Given the description of an element on the screen output the (x, y) to click on. 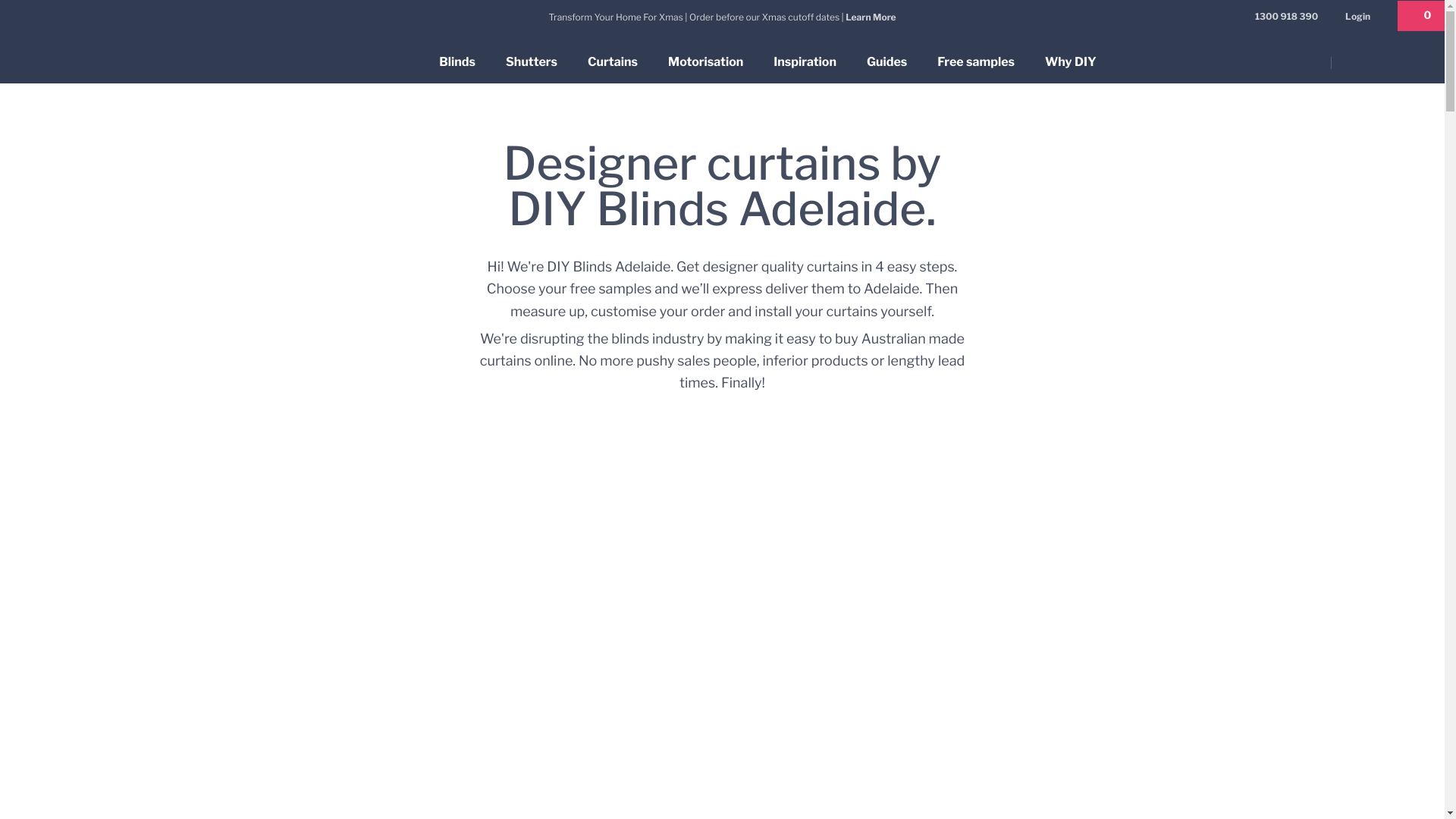
Curtains Element type: text (612, 62)
Guides Element type: text (886, 62)
Home PRO Element type: text (1376, 62)
0 Element type: text (1420, 15)
1300 918 390 Element type: text (1286, 15)
Motorisation Element type: text (705, 62)
Learn More Element type: text (870, 16)
Why DIY Element type: text (1070, 62)
Blinds Element type: text (457, 62)
Shutters Element type: text (531, 62)
Free samples Element type: text (975, 62)
Login Element type: text (1357, 15)
Inspiration Element type: text (804, 62)
